Given the description of an element on the screen output the (x, y) to click on. 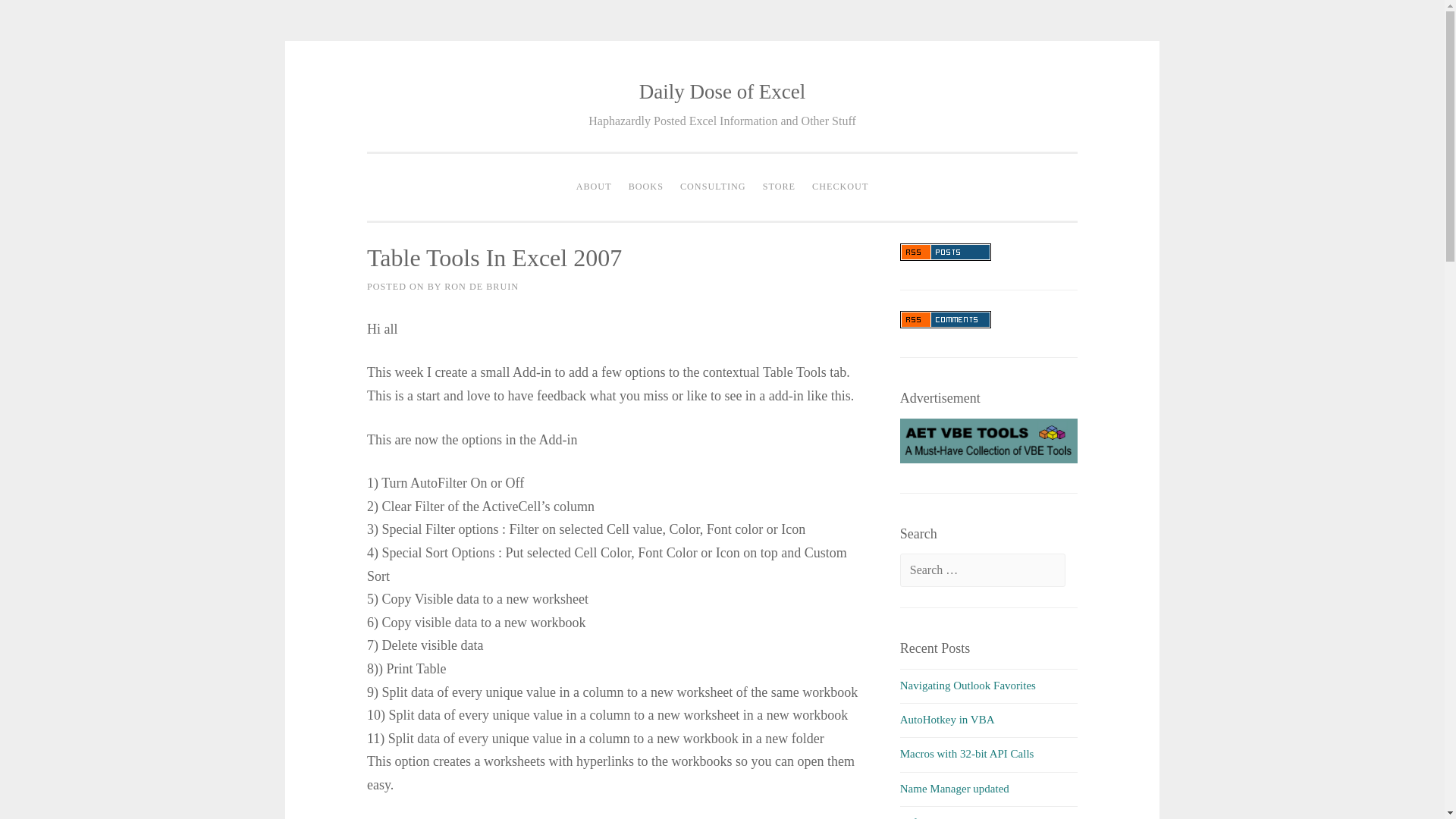
ABOUT (593, 186)
Search (39, 16)
RON DE BRUIN (481, 286)
Name Manager updated (954, 788)
BOOKS (645, 186)
RefTreeAnalyser: Two updates (970, 817)
Navigating Outlook Favorites (967, 685)
CONSULTING (712, 186)
Macros with 32-bit API Calls (966, 753)
CHECKOUT (840, 186)
AutoHotkey in VBA (946, 719)
Daily Dose of Excel (722, 91)
Daily Dose of Excel (722, 91)
STORE (778, 186)
